Given the description of an element on the screen output the (x, y) to click on. 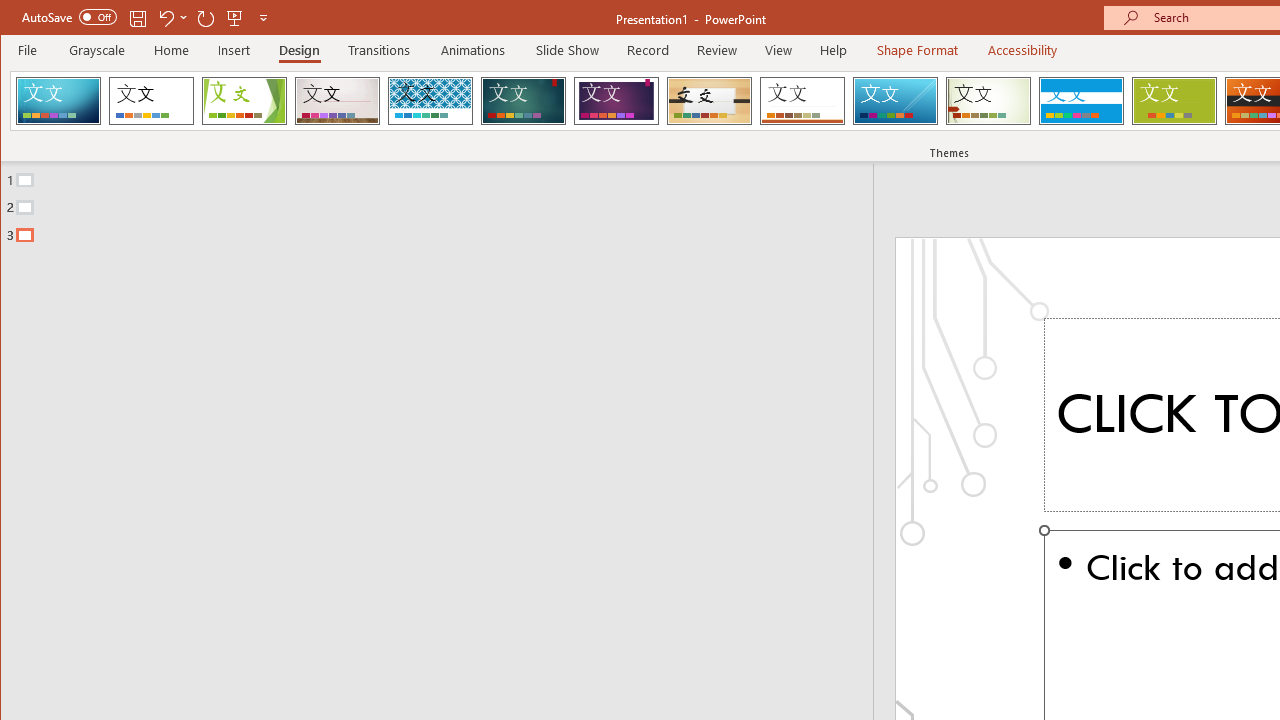
More Options (183, 17)
System (18, 18)
Grayscale (97, 50)
Slide Show (567, 50)
Ion Boardroom (616, 100)
Retrospect (802, 100)
Transitions (379, 50)
From Beginning (235, 17)
Undo (165, 17)
